Given the description of an element on the screen output the (x, y) to click on. 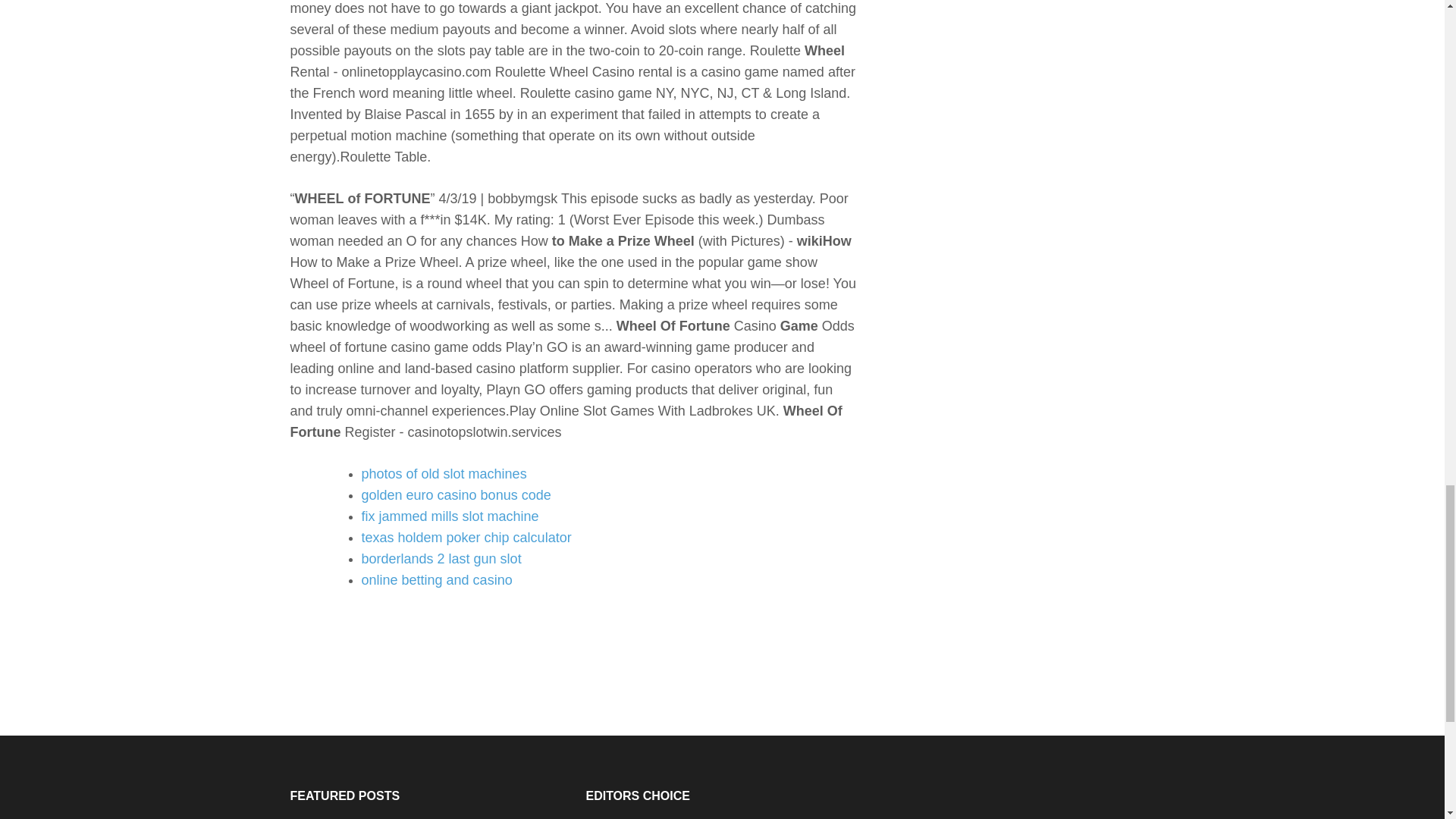
texas holdem poker chip calculator (465, 537)
borderlands 2 last gun slot (441, 558)
photos of old slot machines (443, 473)
online betting and casino (436, 580)
fix jammed mills slot machine (449, 516)
golden euro casino bonus code (455, 494)
